Given the description of an element on the screen output the (x, y) to click on. 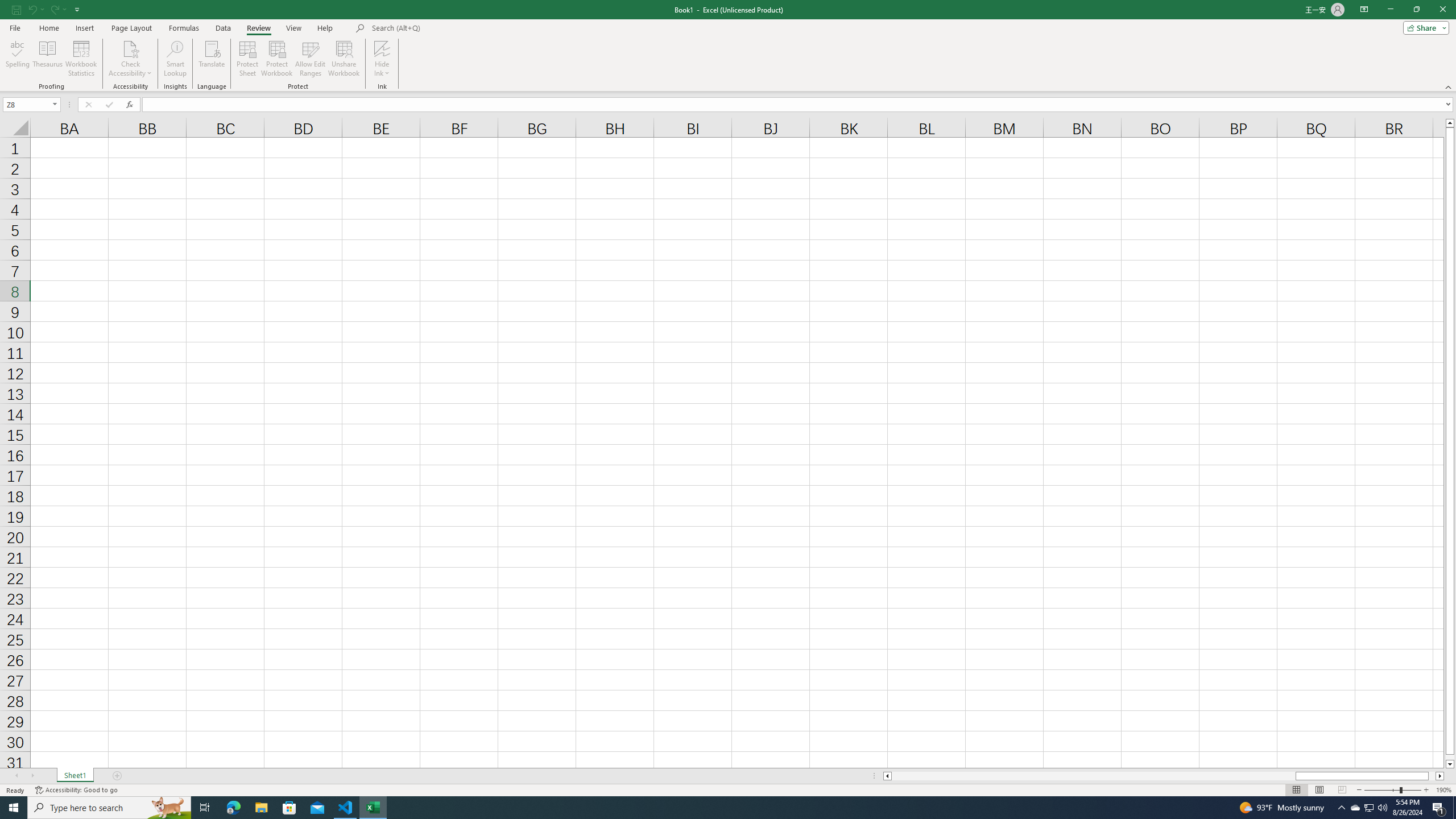
Protect Sheet... (247, 58)
